Given the description of an element on the screen output the (x, y) to click on. 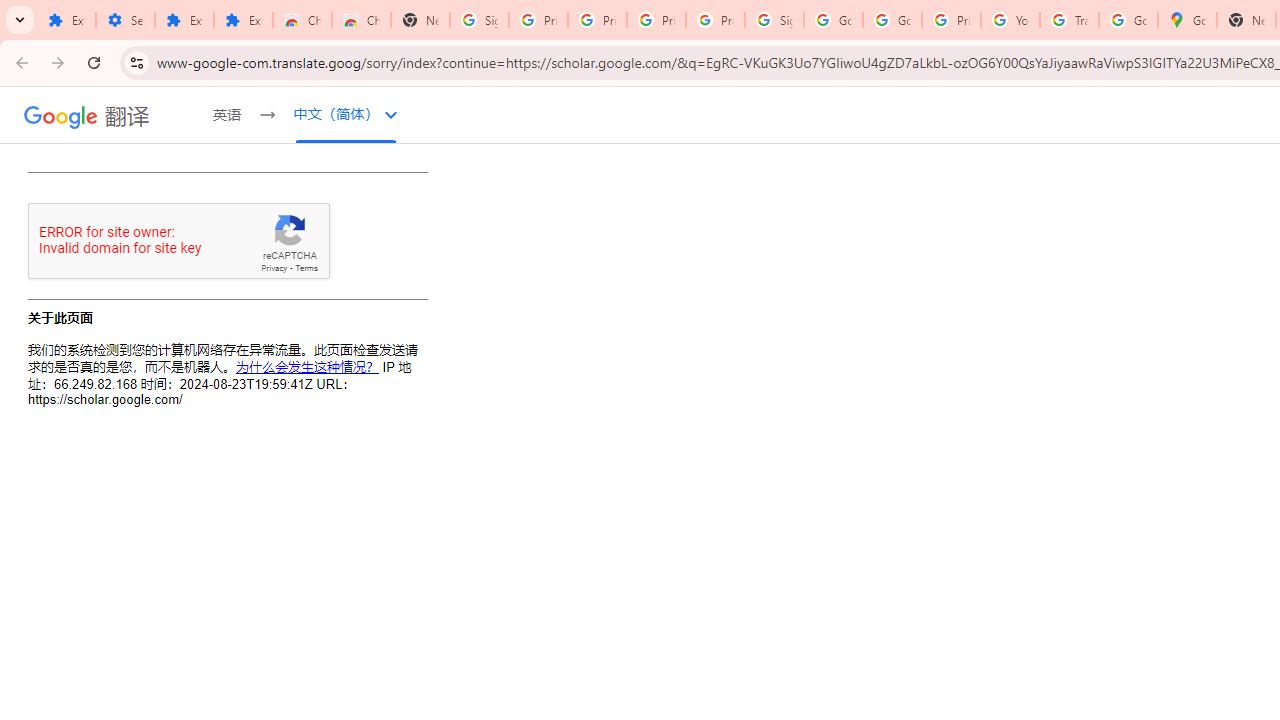
Google Maps (1187, 20)
